Given the description of an element on the screen output the (x, y) to click on. 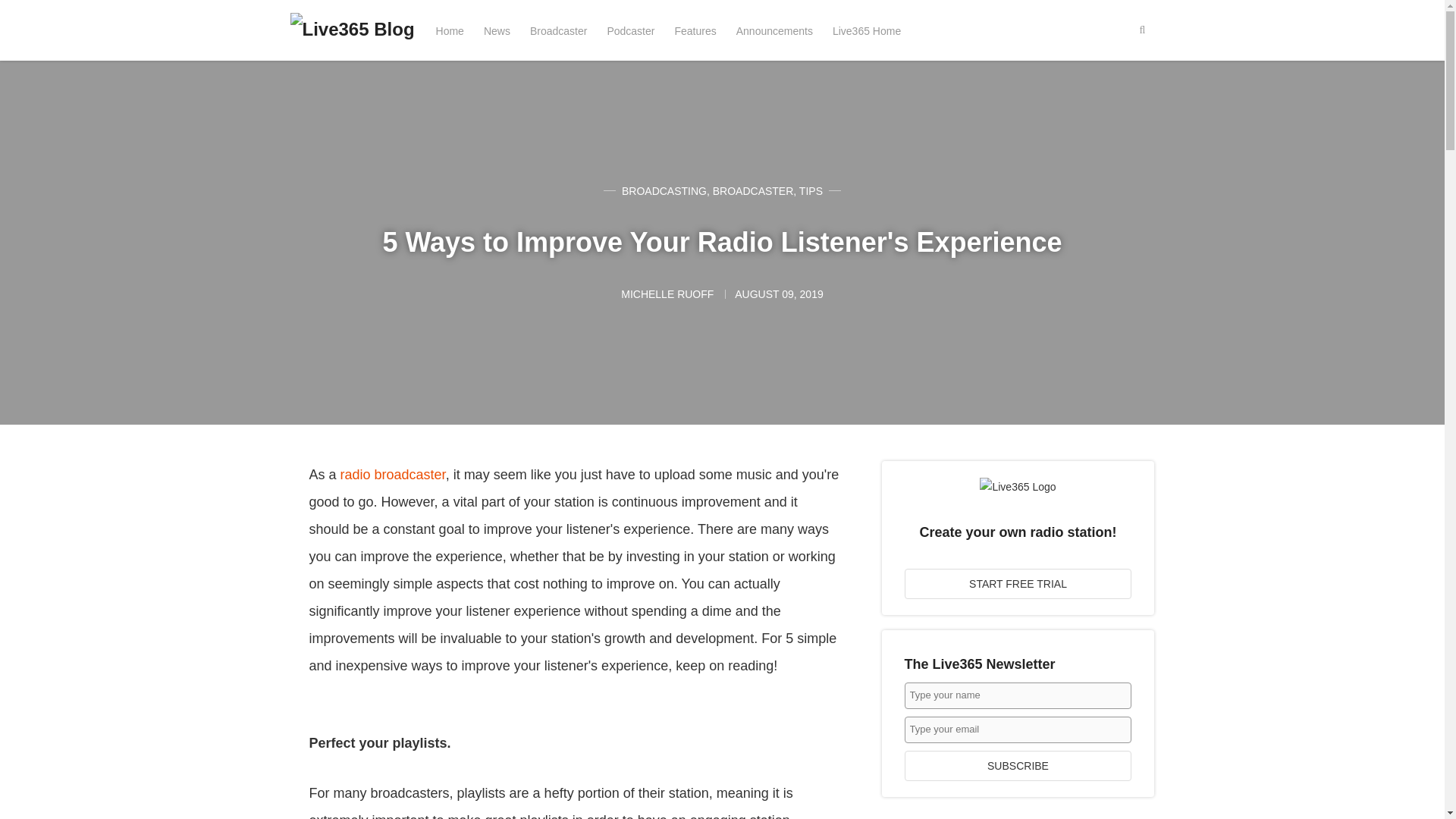
START FREE TRIAL (1017, 583)
MICHELLE RUOFF (668, 294)
radio broadcaster (392, 474)
TIPS (810, 191)
News (497, 30)
Home (449, 30)
Podcaster (630, 30)
Announcements (774, 30)
BROADCASTER (753, 191)
Live365 Home (866, 30)
